Given the description of an element on the screen output the (x, y) to click on. 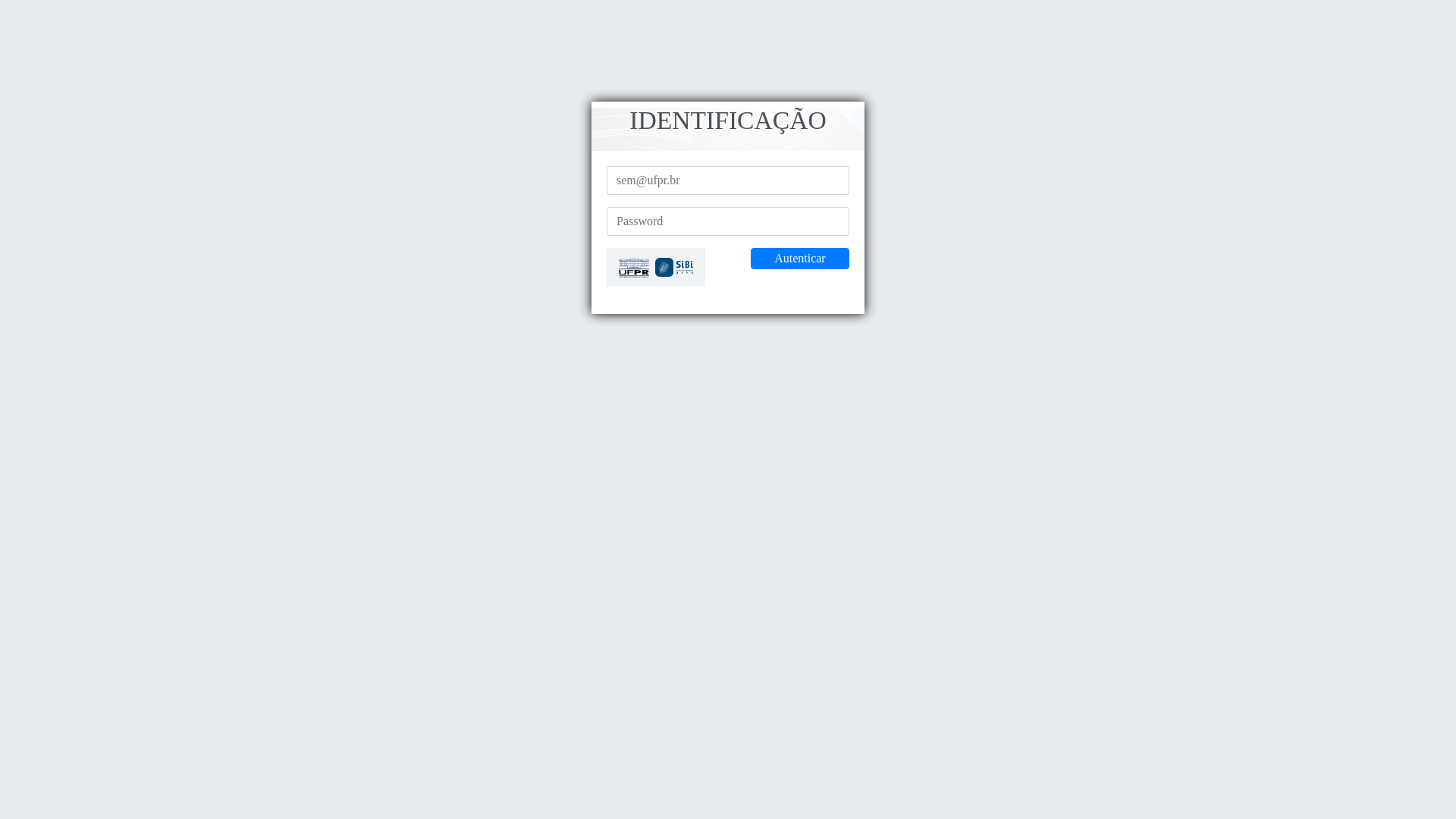
Autenticar Element type: text (799, 258)
